Given the description of an element on the screen output the (x, y) to click on. 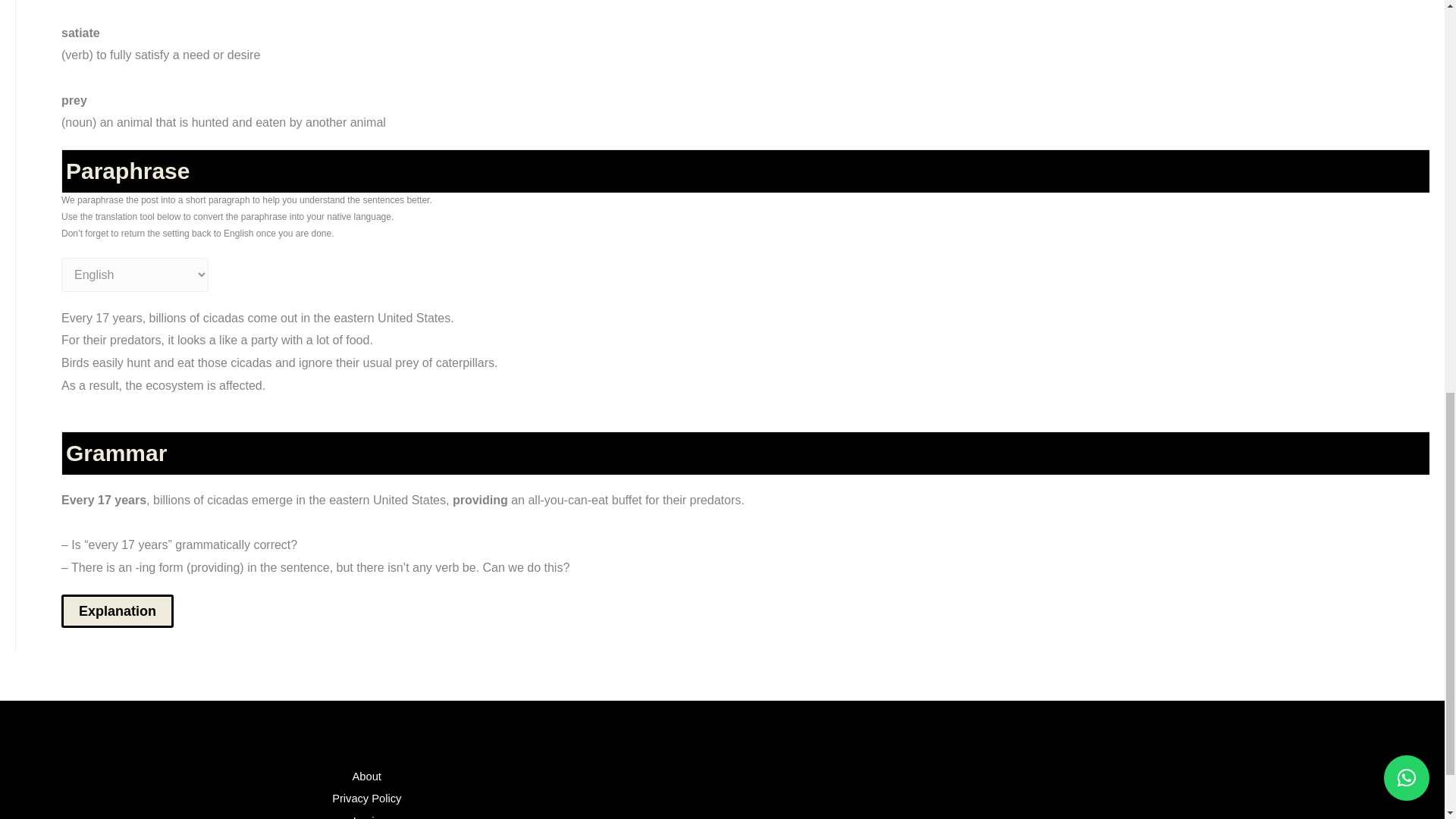
Login (366, 816)
Privacy Policy (366, 797)
Explanation (117, 611)
About (366, 775)
